Given the description of an element on the screen output the (x, y) to click on. 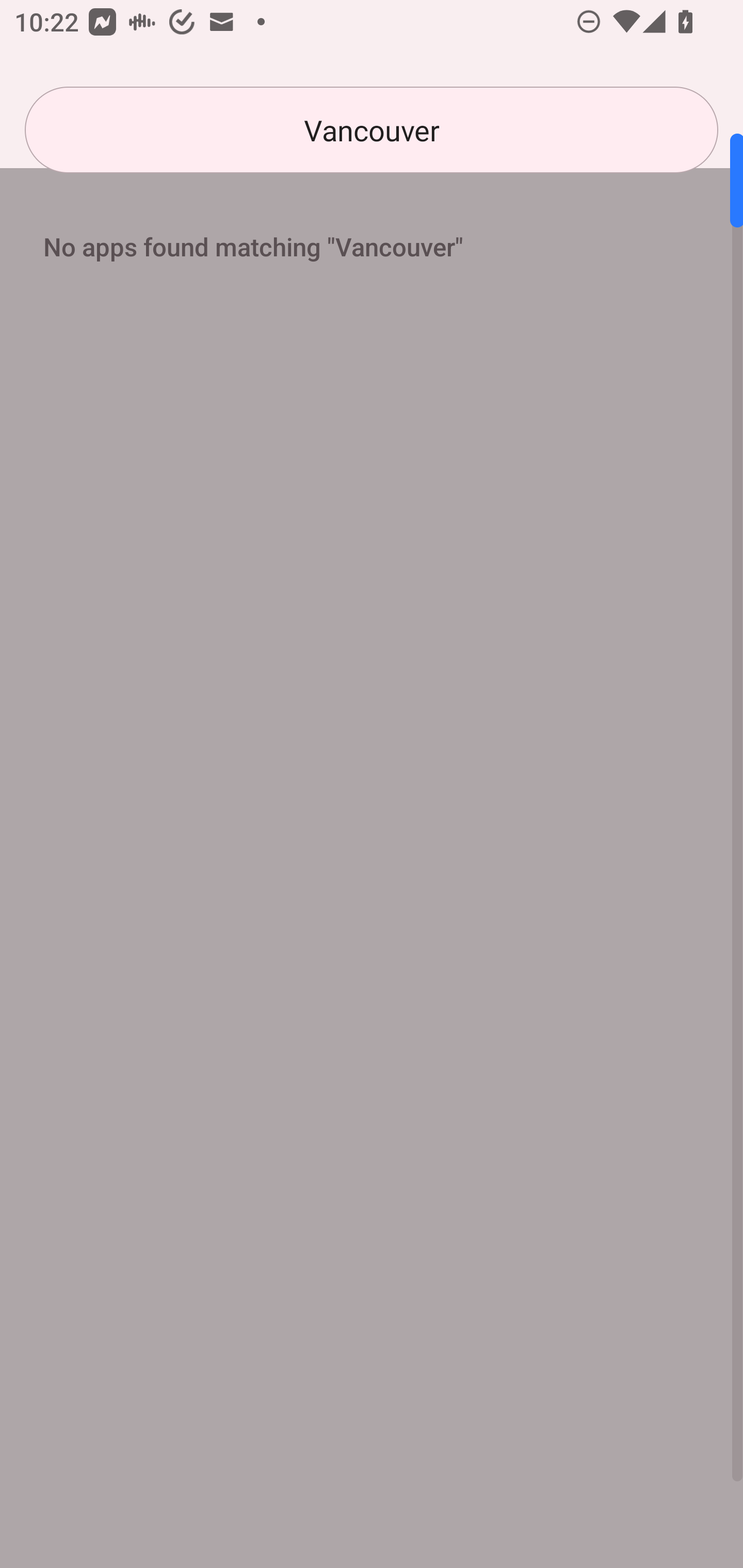
Vancouver (371, 130)
